Given the description of an element on the screen output the (x, y) to click on. 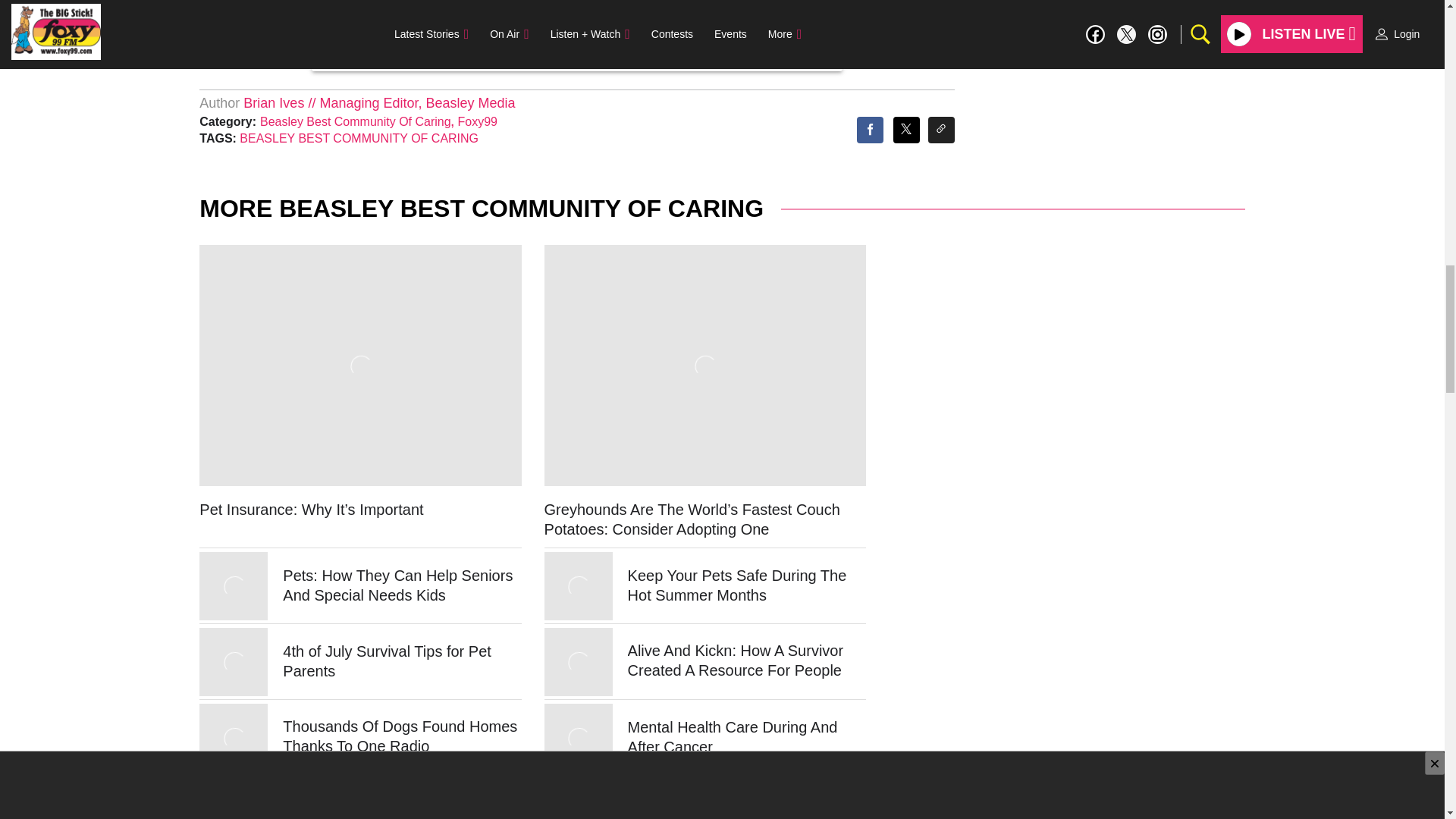
on (430, 24)
